Given the description of an element on the screen output the (x, y) to click on. 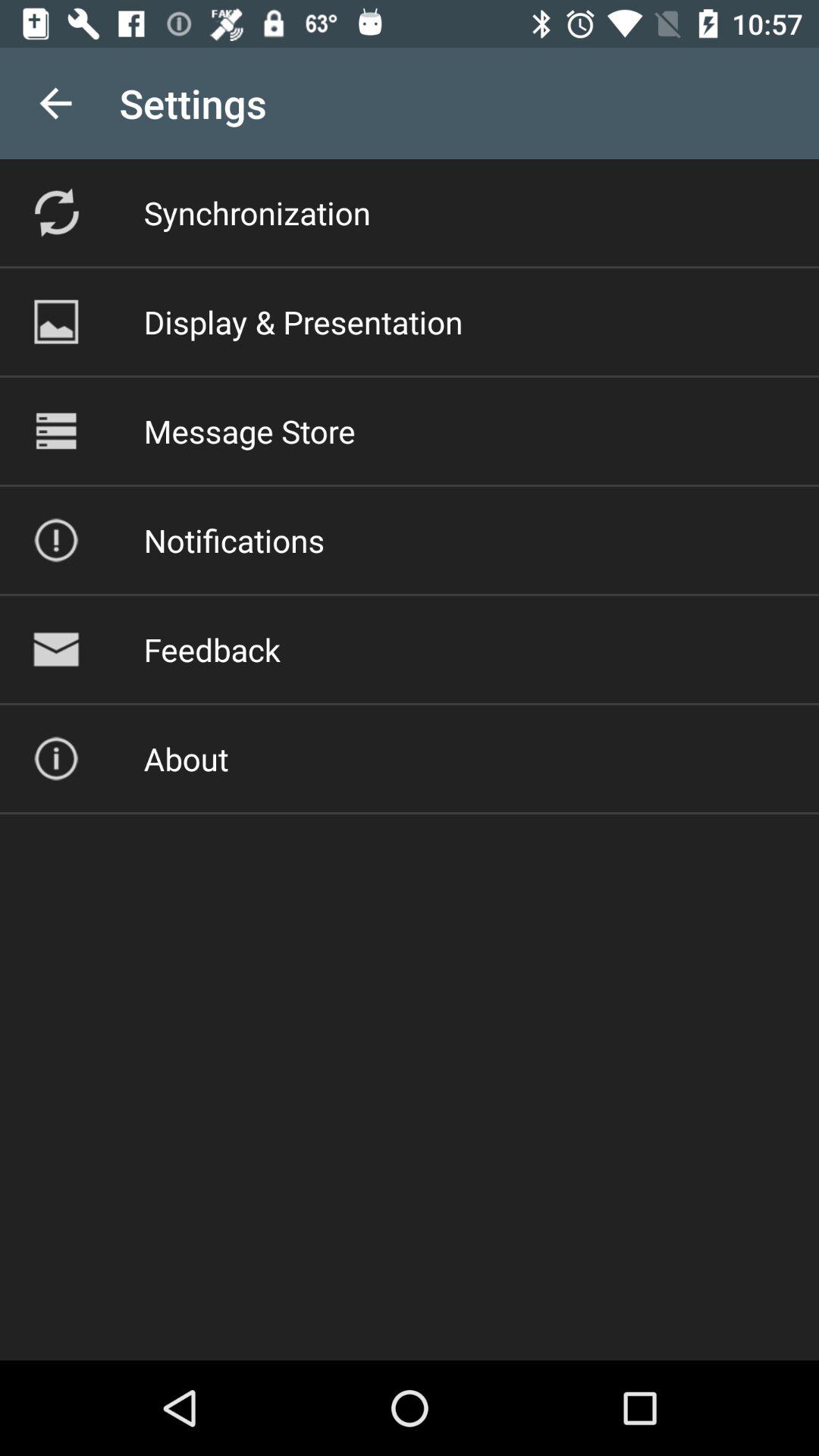
click the icon above the about item (211, 649)
